Given the description of an element on the screen output the (x, y) to click on. 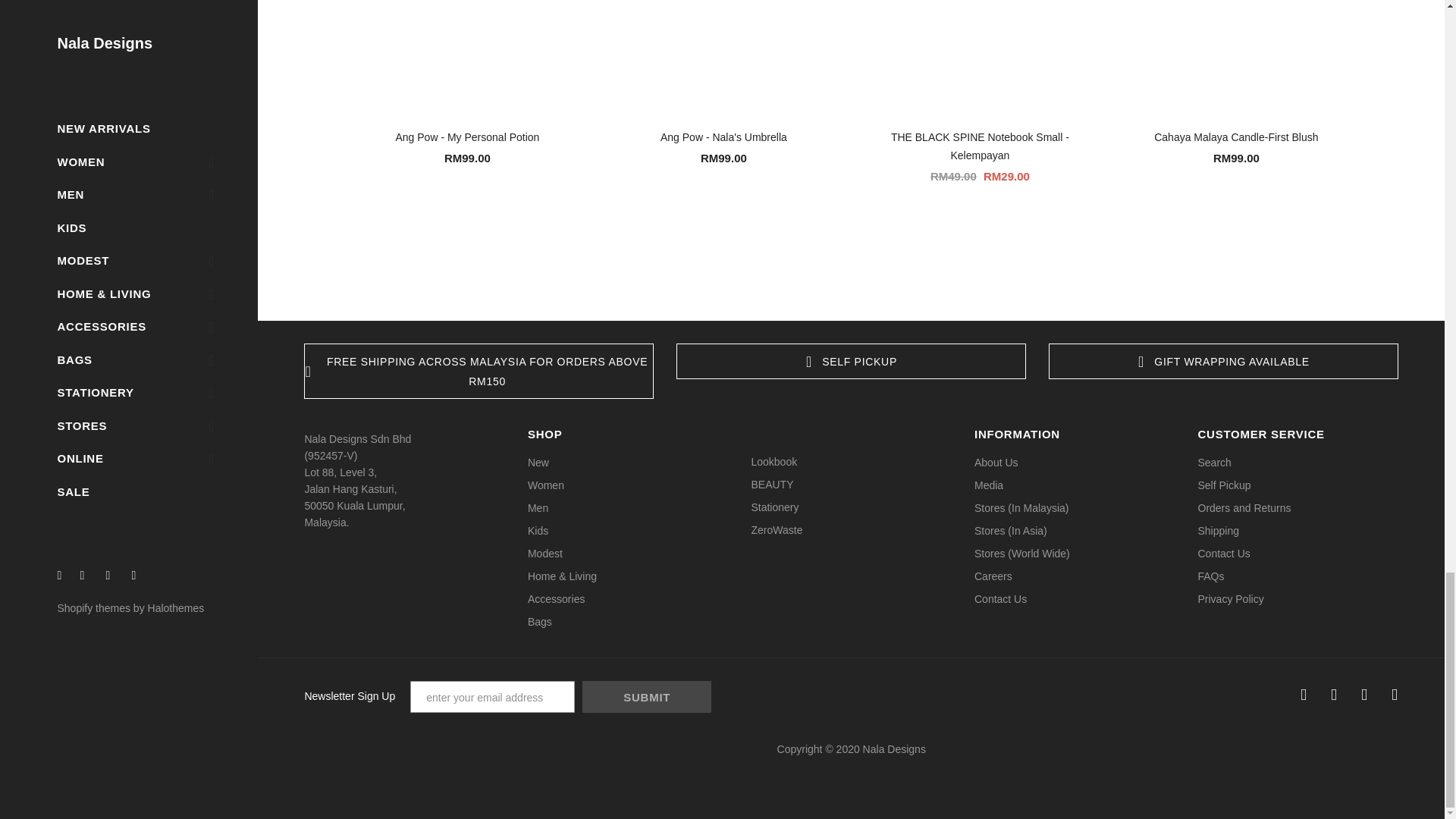
Submit (646, 696)
